Given the description of an element on the screen output the (x, y) to click on. 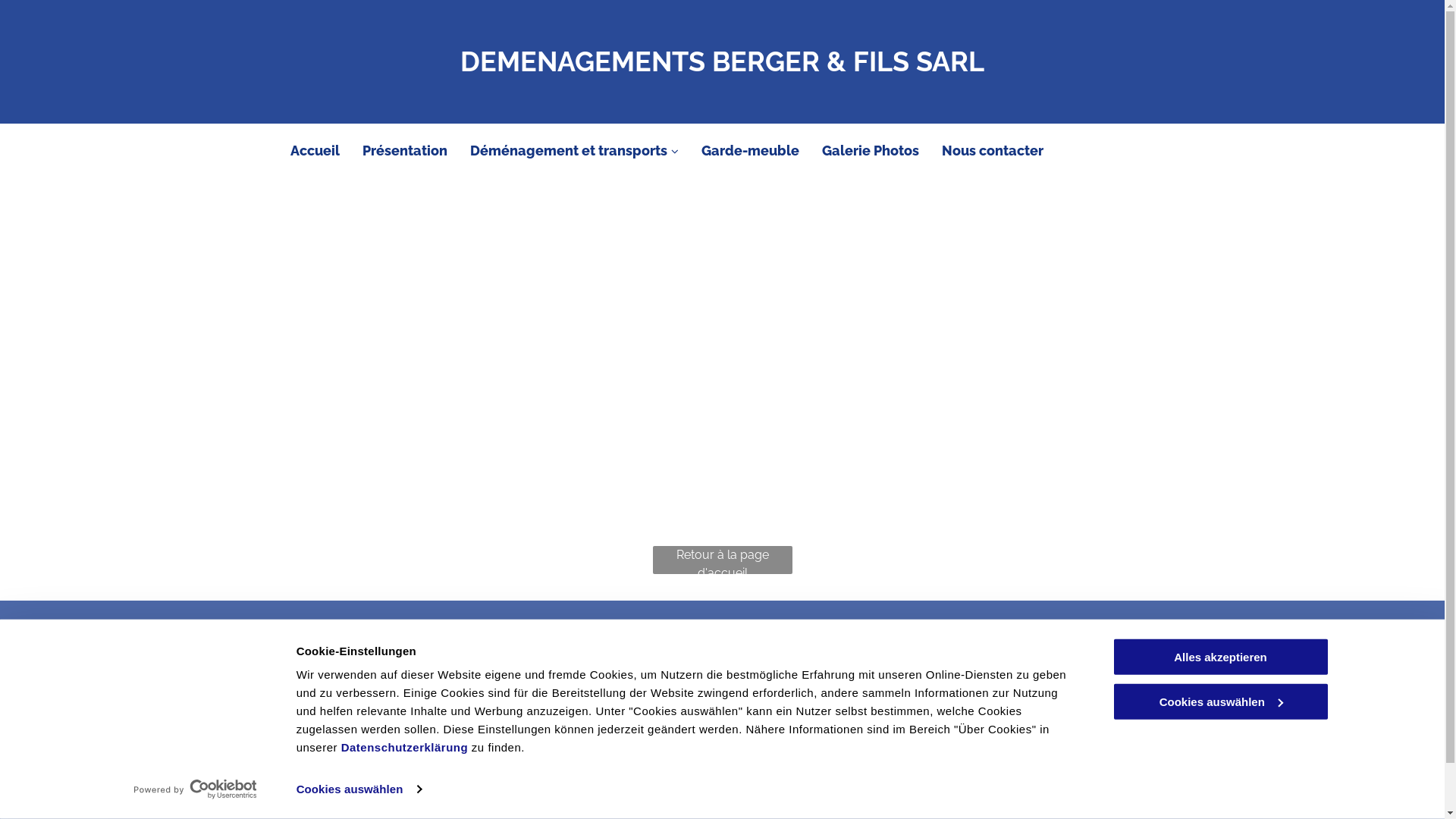
Galerie Photos Element type: text (870, 150)
Alles akzeptieren Element type: text (1219, 656)
076 394 79 69 Element type: text (613, 706)
Nous contacter Element type: text (992, 150)
berger.ledemenageur@gmail.com Element type: text (674, 744)
Garde-meuble Element type: text (749, 150)
022 364 13 40 Element type: text (613, 667)
Accueil Element type: text (313, 150)
